Given the description of an element on the screen output the (x, y) to click on. 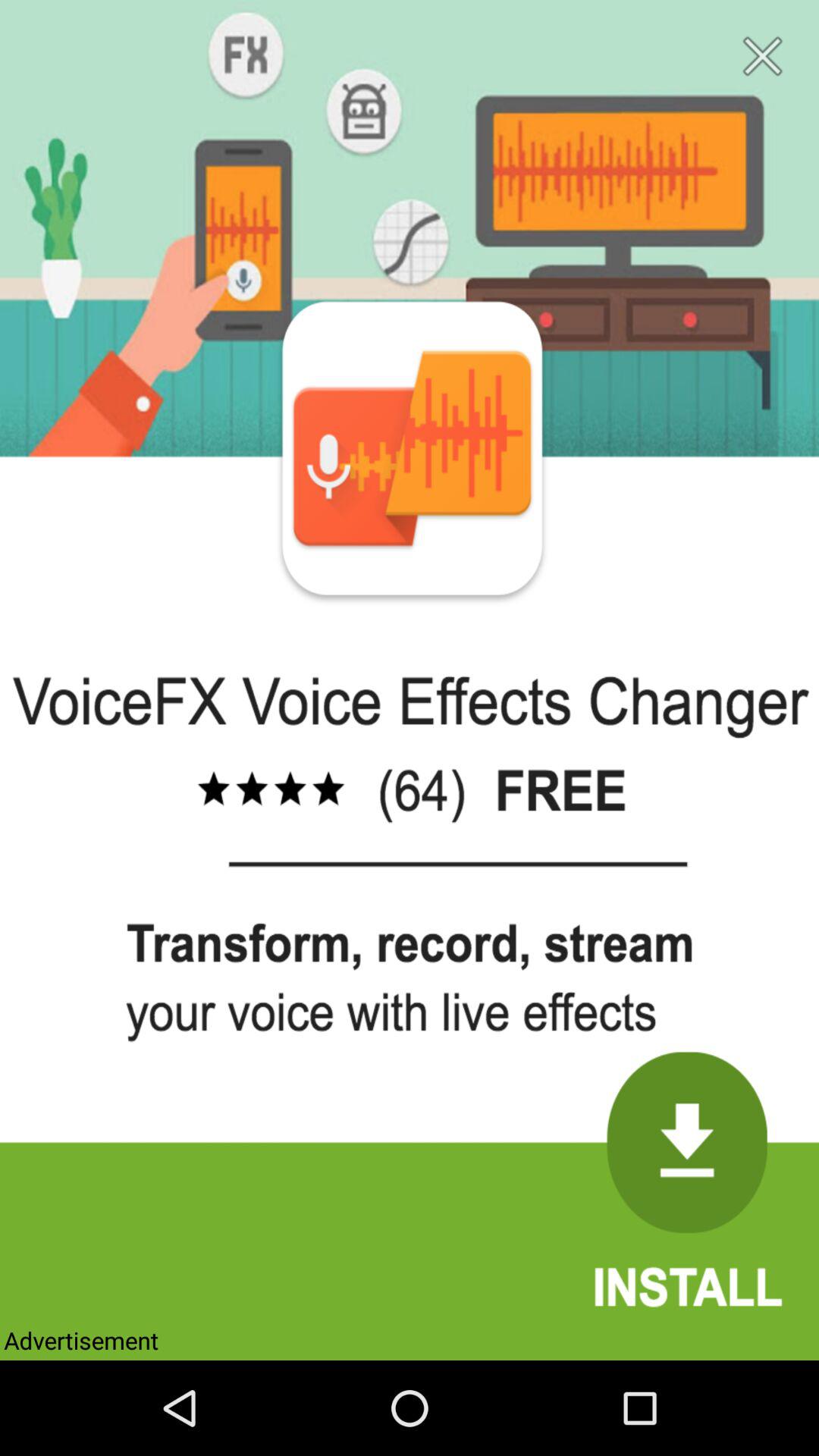
close page (762, 56)
